Given the description of an element on the screen output the (x, y) to click on. 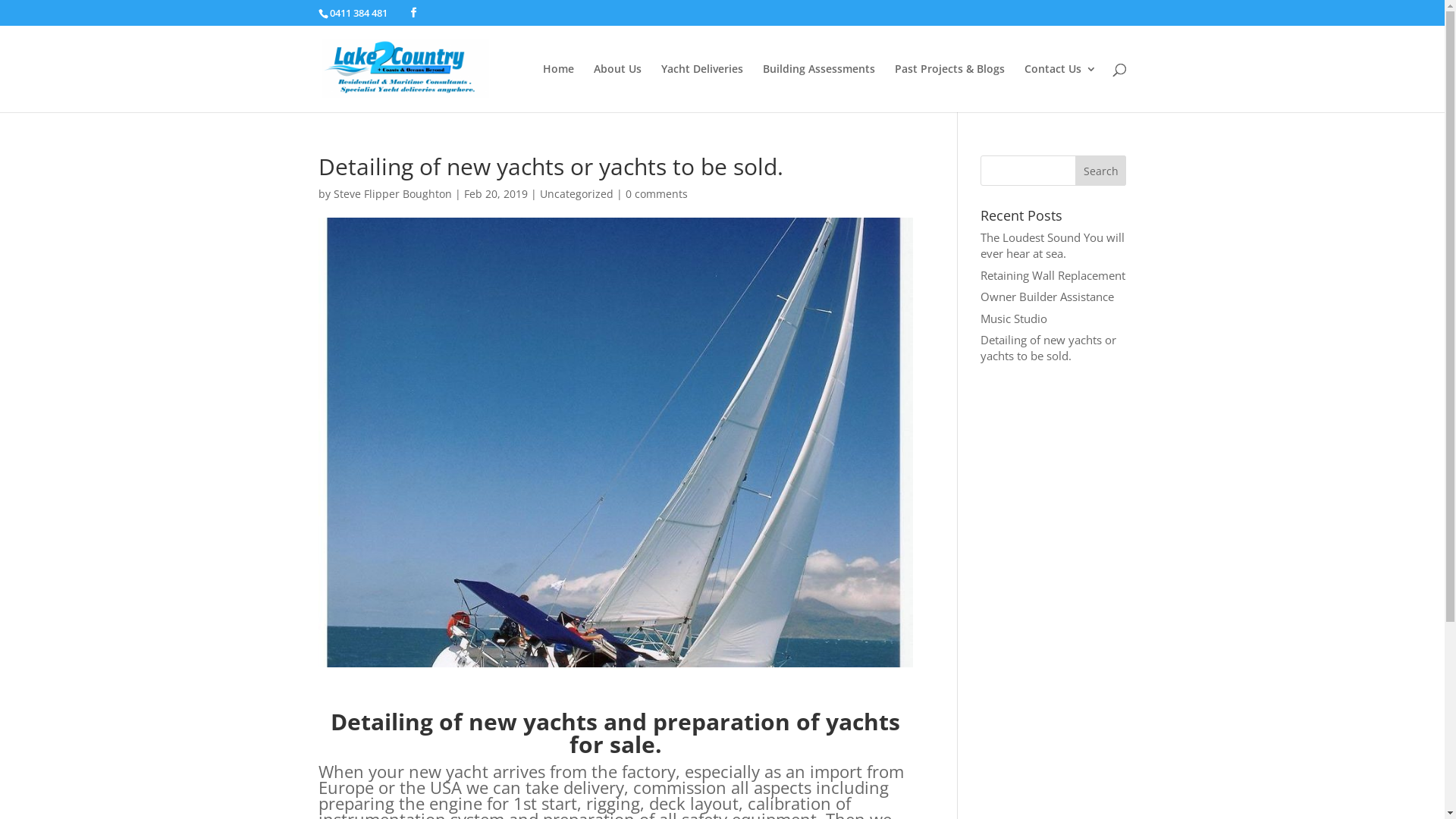
Building Assessments Element type: text (818, 87)
Music Studio Element type: text (1013, 318)
Uncategorized Element type: text (576, 193)
Search Element type: text (1100, 170)
About Us Element type: text (616, 87)
Contact Us Element type: text (1059, 87)
Home Element type: text (558, 87)
0411 384 481 Element type: text (359, 12)
Detailing of new yachts or yachts to be sold. Element type: text (1048, 347)
Yacht Deliveries Element type: text (702, 87)
0 comments Element type: text (655, 193)
Owner Builder Assistance Element type: text (1046, 296)
Steve Flipper Boughton Element type: text (392, 193)
Retaining Wall Replacement Element type: text (1052, 274)
Past Projects & Blogs Element type: text (949, 87)
The Loudest Sound You will ever hear at sea. Element type: text (1052, 244)
